Given the description of an element on the screen output the (x, y) to click on. 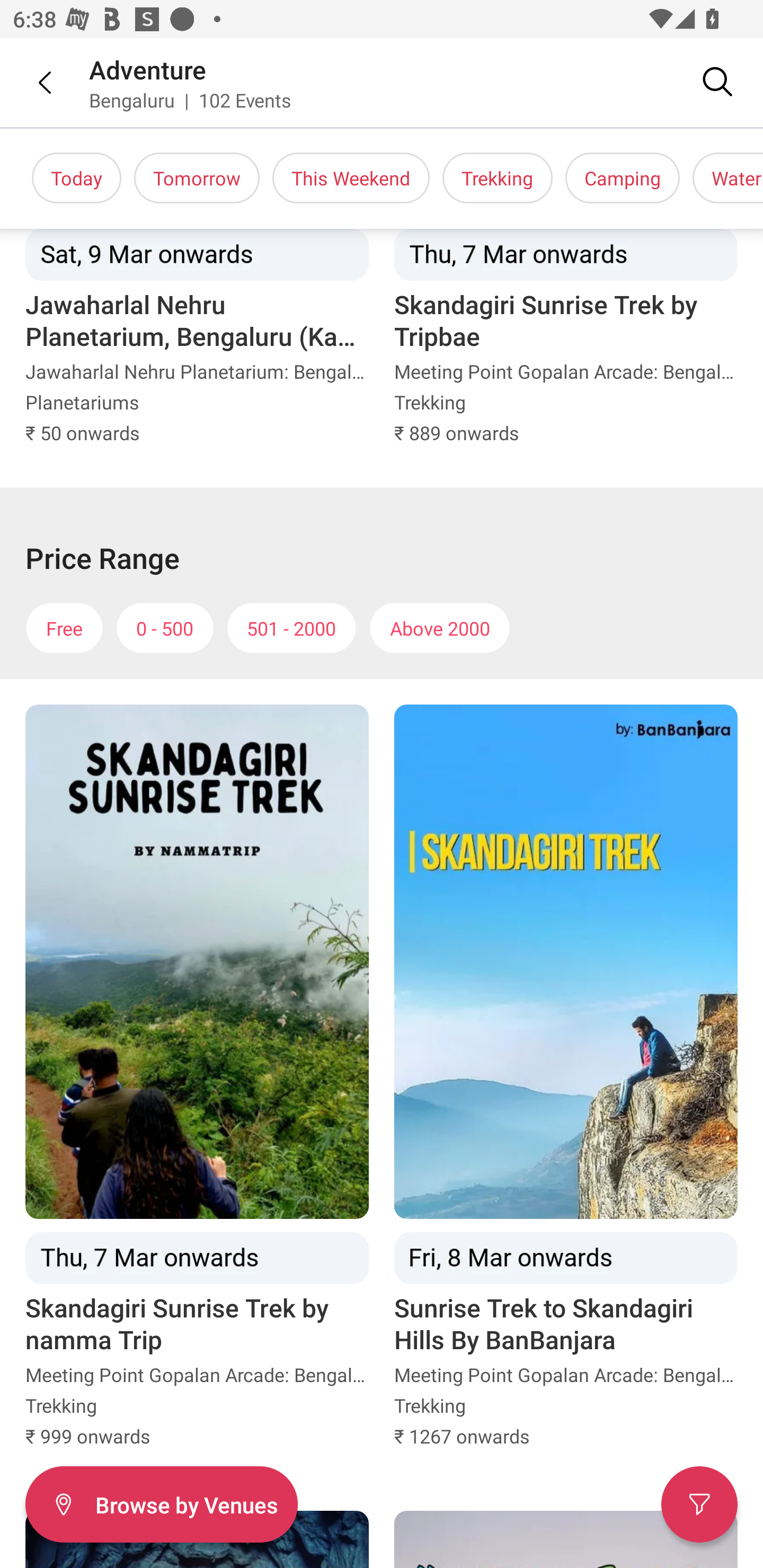
Back (31, 82)
Adventure (147, 68)
Bengaluru  |  102 Events (190, 99)
Today (76, 177)
Tomorrow (196, 177)
This Weekend (350, 177)
Trekking (497, 177)
Camping (622, 177)
Free (64, 627)
0 - 500 (164, 627)
501 - 2000 (291, 627)
Above 2000 (439, 627)
Filter Browse by Venues (161, 1504)
Filter (699, 1504)
